Given the description of an element on the screen output the (x, y) to click on. 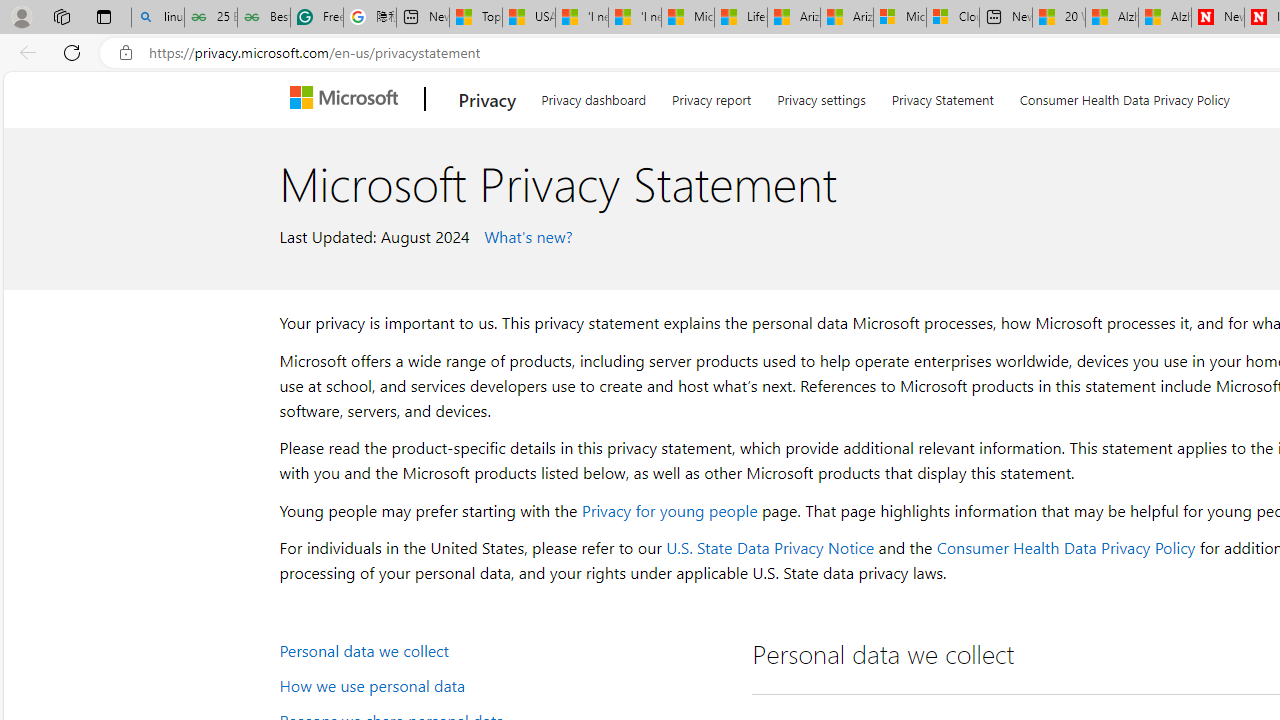
Privacy settings (821, 96)
Privacy Statement (942, 96)
20 Ways to Boost Your Protein Intake at Every Meal (1059, 17)
Cloud Computing Services | Microsoft Azure (952, 17)
U.S. State Data Privacy Notice (770, 547)
Privacy report (712, 96)
Free AI Writing Assistance for Students | Grammarly (316, 17)
Privacy settings (821, 96)
How we use personal data (504, 684)
Personal data we collect (504, 650)
Privacy dashboard (593, 96)
